Given the description of an element on the screen output the (x, y) to click on. 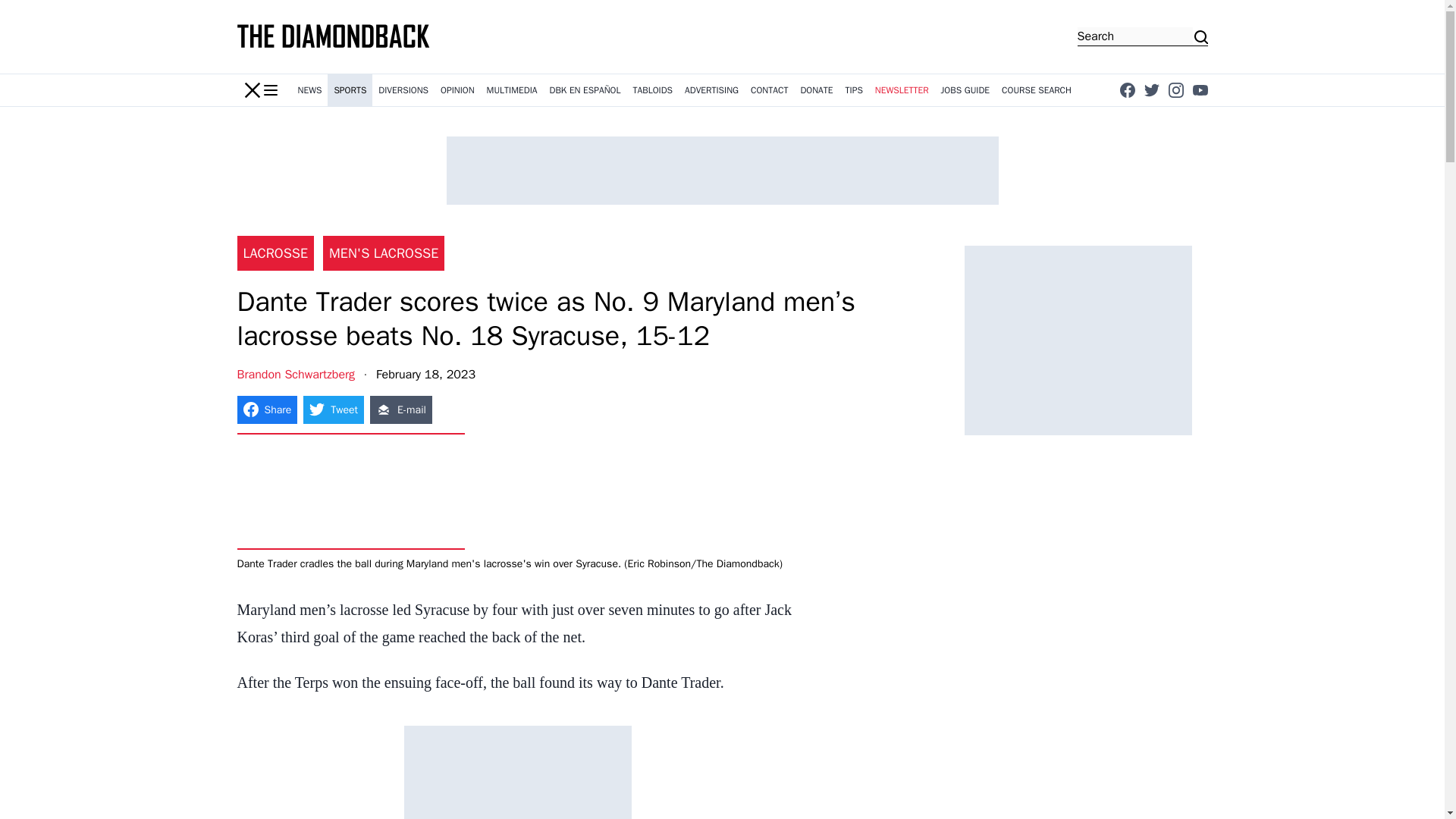
Sports (349, 90)
NEWSLETTER (901, 90)
OPINION (456, 90)
Newsletter (901, 90)
The Diamondback on Twitter (1150, 89)
Tips (854, 90)
Donate (815, 90)
ADVERTISING (711, 90)
JOBS GUIDE (964, 90)
DIVERSIONS (402, 90)
The Diamondback on Instagram (1174, 89)
Opinion (456, 90)
News (309, 90)
Contact (768, 90)
TABLOIDS (652, 90)
